Given the description of an element on the screen output the (x, y) to click on. 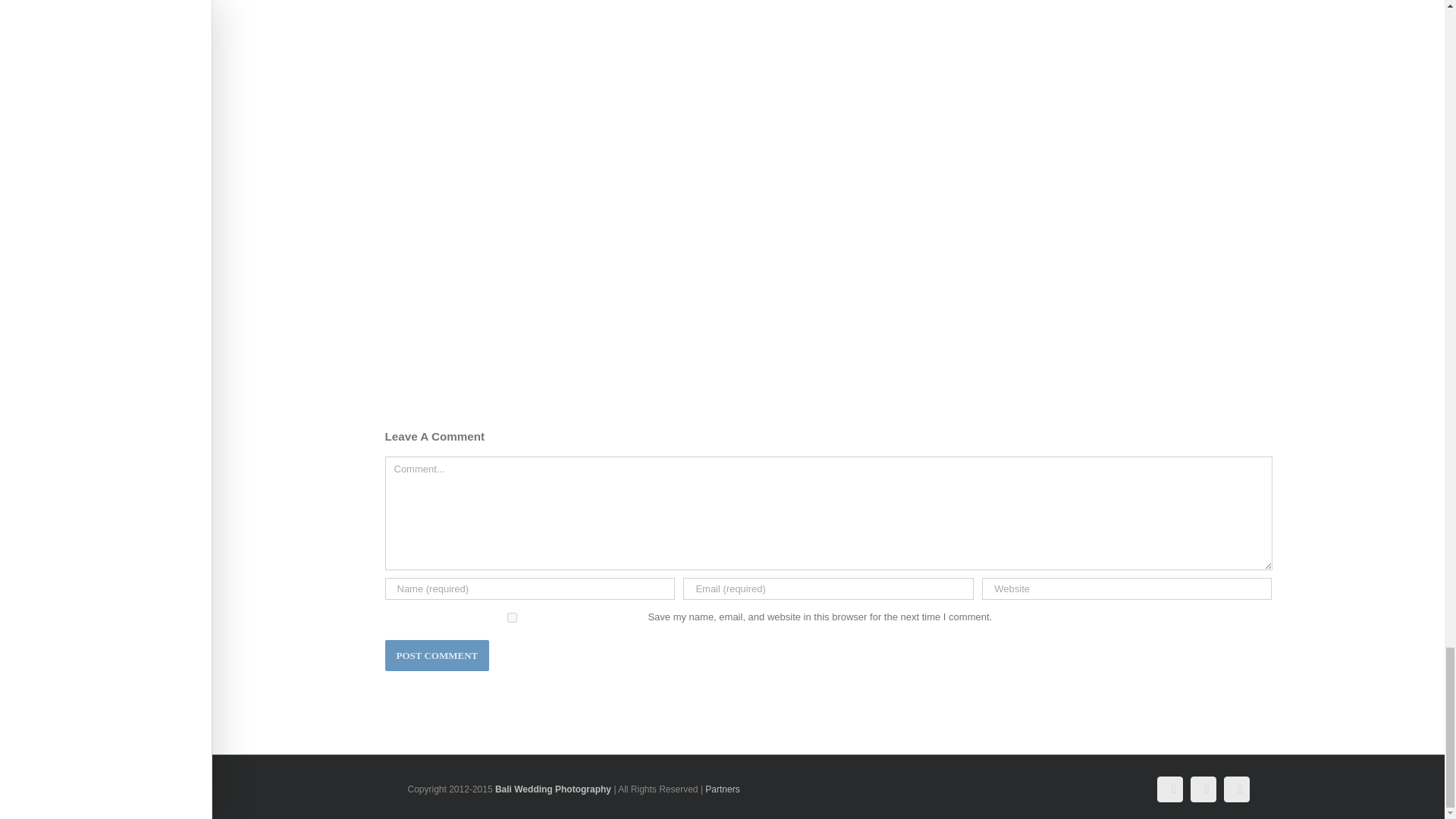
Twitter (1203, 789)
Instagram (1236, 789)
Post Comment (437, 654)
Facebook (1169, 789)
yes (512, 617)
